Given the description of an element on the screen output the (x, y) to click on. 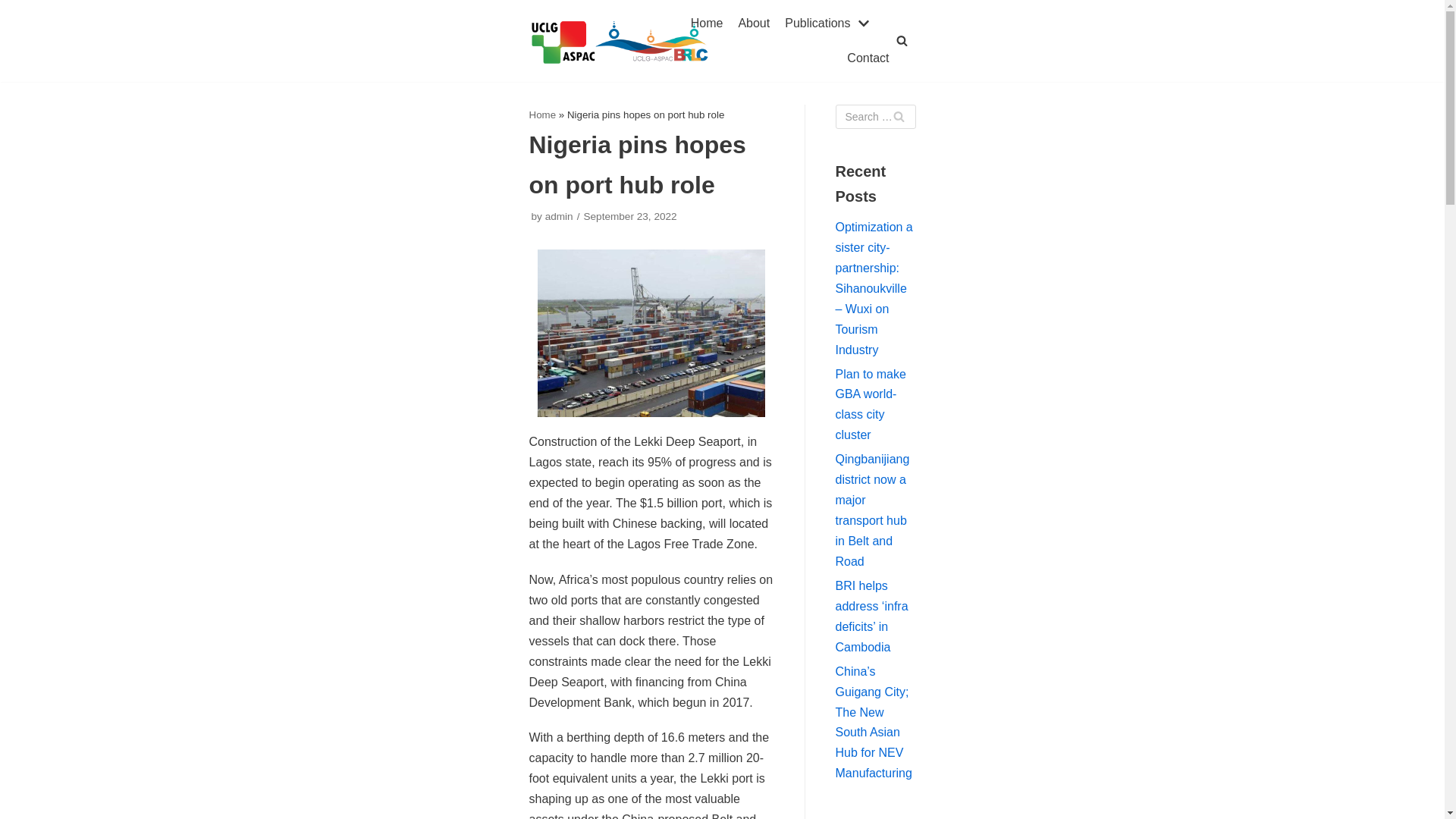
Contact (867, 57)
admin (558, 215)
Skip to content (15, 31)
Posts by admin (558, 215)
Search (897, 116)
About (754, 23)
UCLG-ASPAC BRLC (621, 41)
Plan to make GBA world-class city cluster (870, 403)
Home (542, 114)
Search (897, 116)
